Given the description of an element on the screen output the (x, y) to click on. 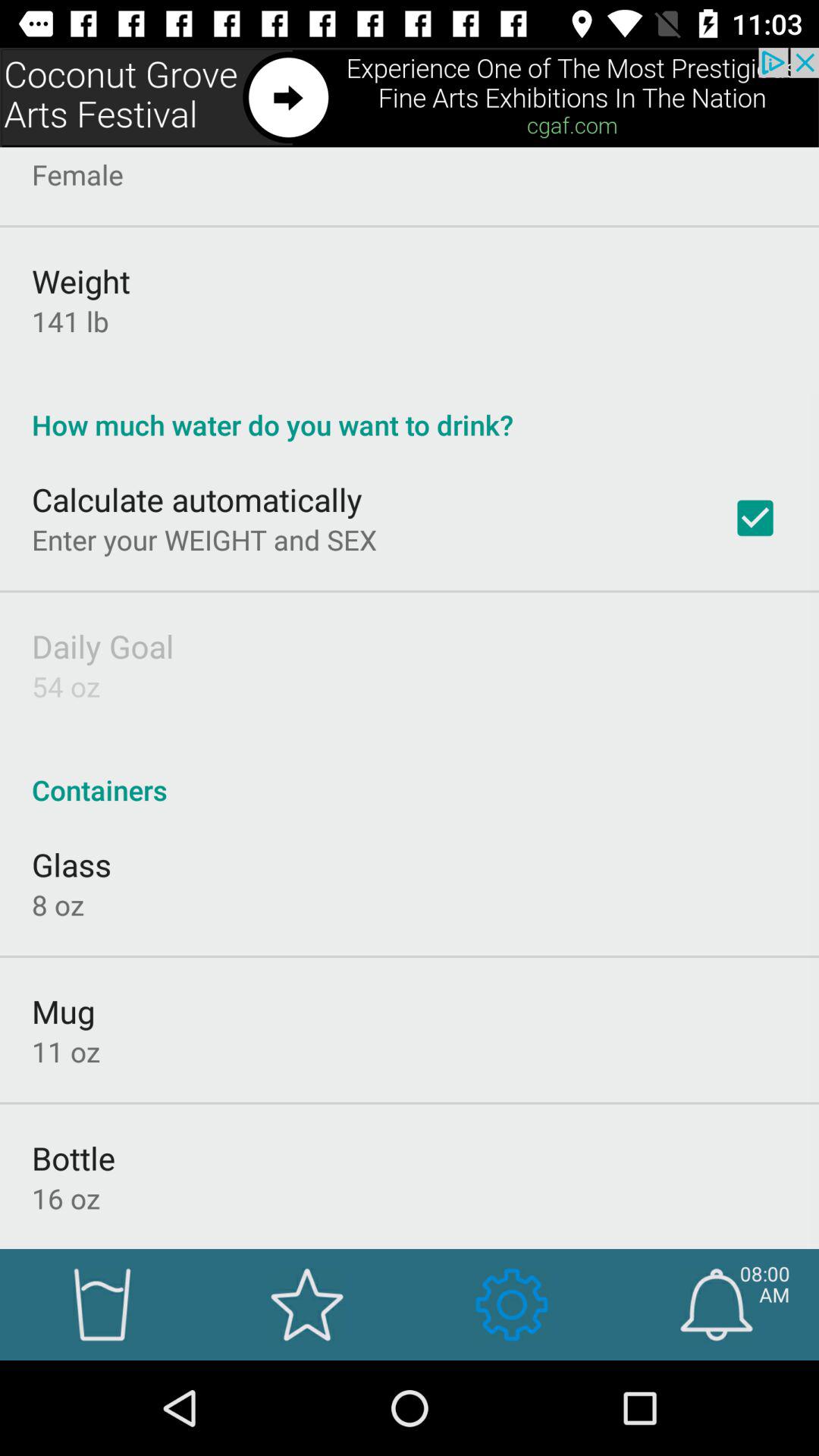
advertisement (409, 97)
